Given the description of an element on the screen output the (x, y) to click on. 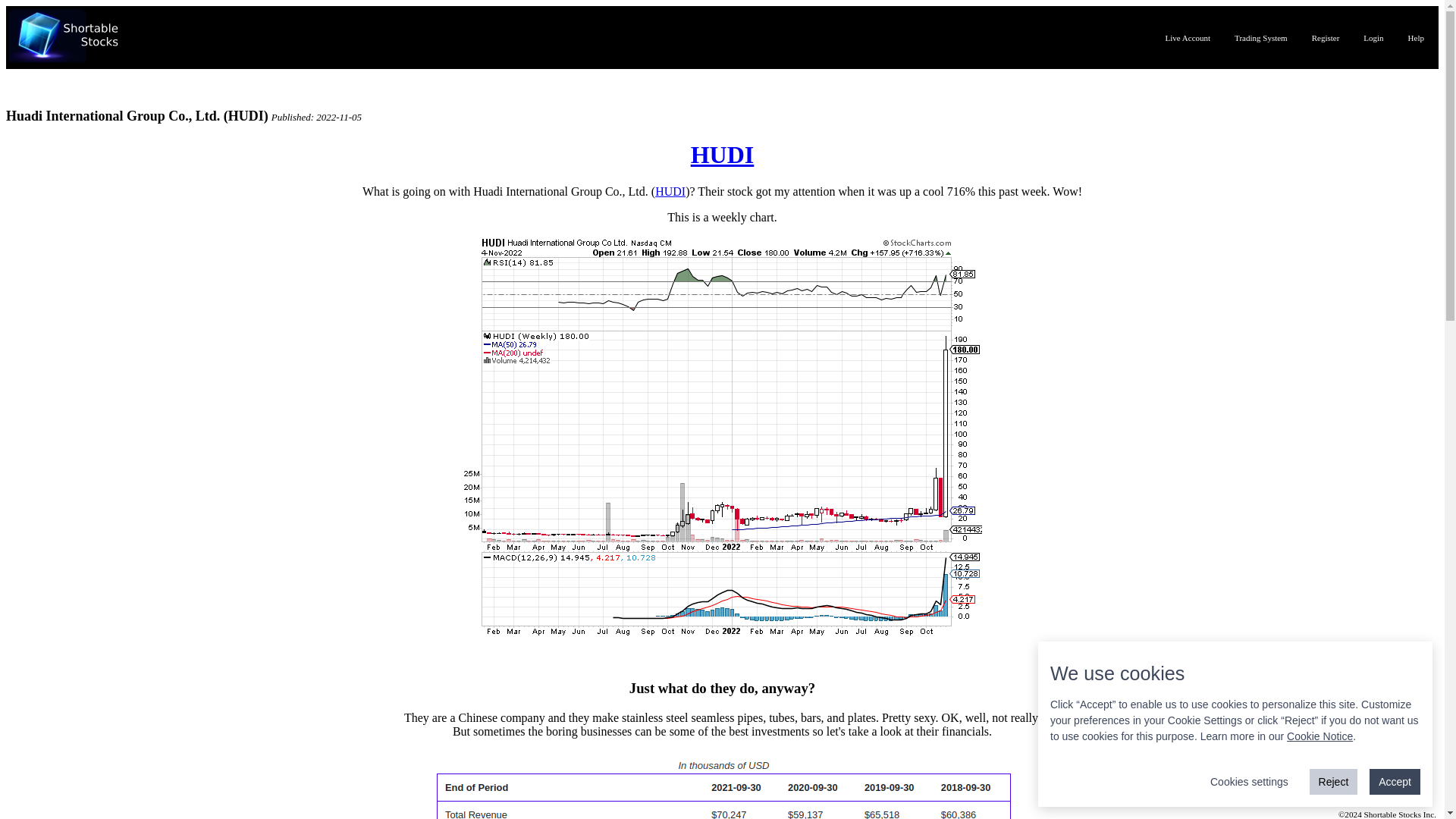
HUDI (722, 154)
Cookie Notice (1319, 736)
Register (1326, 37)
Trading System (1261, 37)
Live Account (1188, 37)
HUDI (670, 191)
Login (1372, 37)
